Given the description of an element on the screen output the (x, y) to click on. 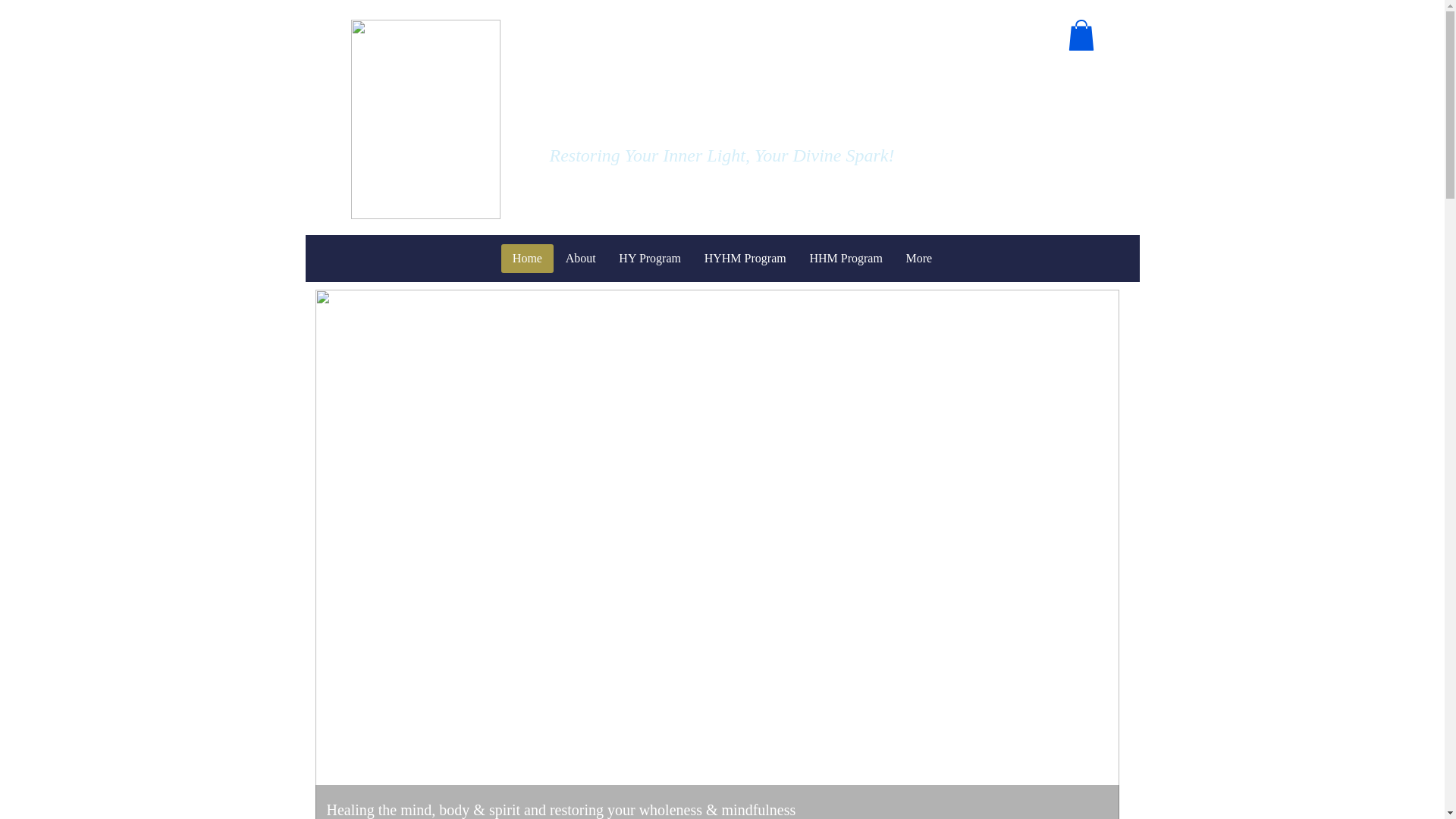
HHM Program (845, 258)
About (580, 258)
More (918, 258)
HYHM Program (745, 258)
HY Program (650, 258)
Home (526, 258)
